Given the description of an element on the screen output the (x, y) to click on. 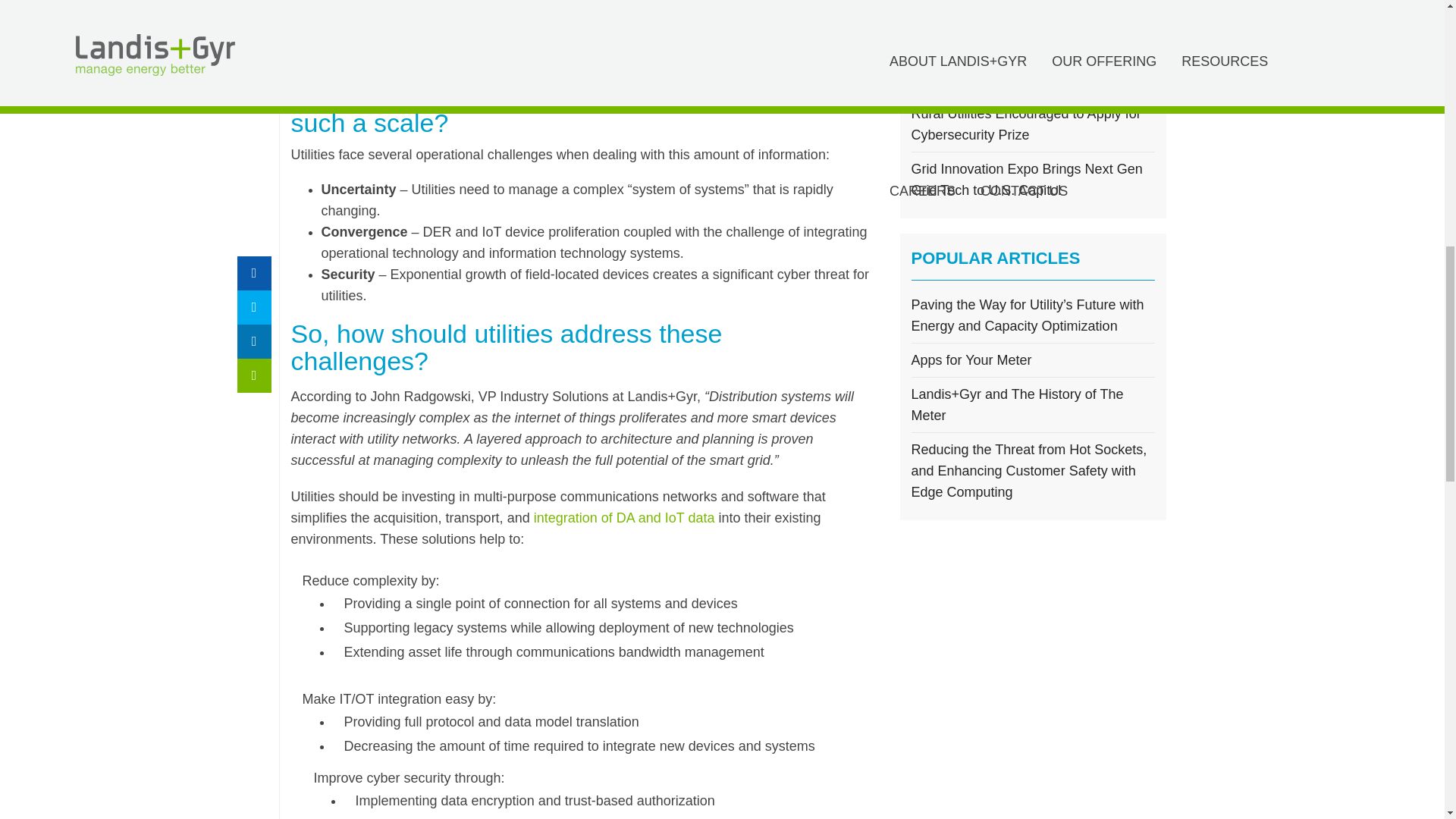
integration of DA and IoT data (624, 517)
